Given the description of an element on the screen output the (x, y) to click on. 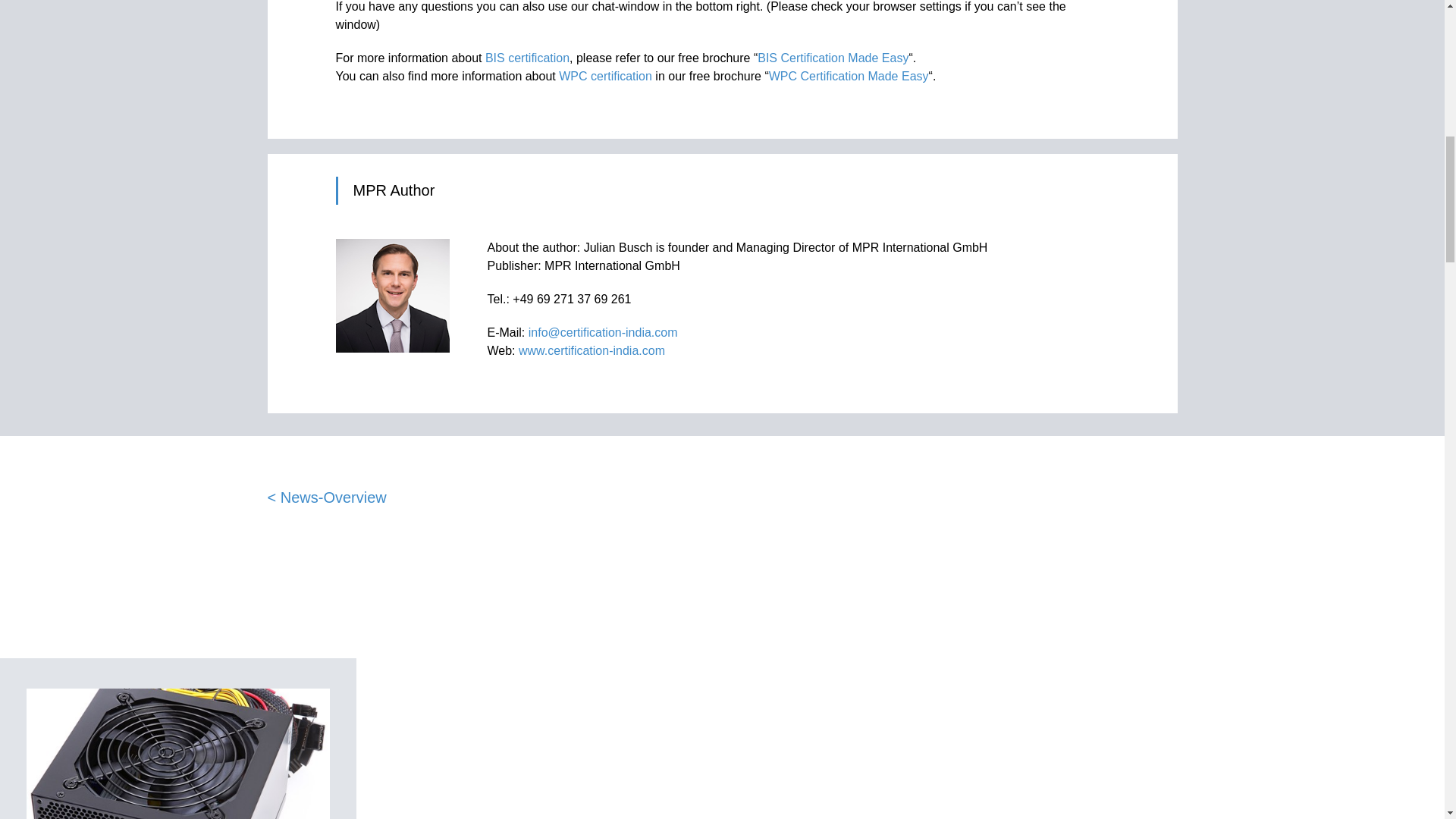
BIS Certification Made Easy (832, 57)
BIS certification (526, 57)
